Given the description of an element on the screen output the (x, y) to click on. 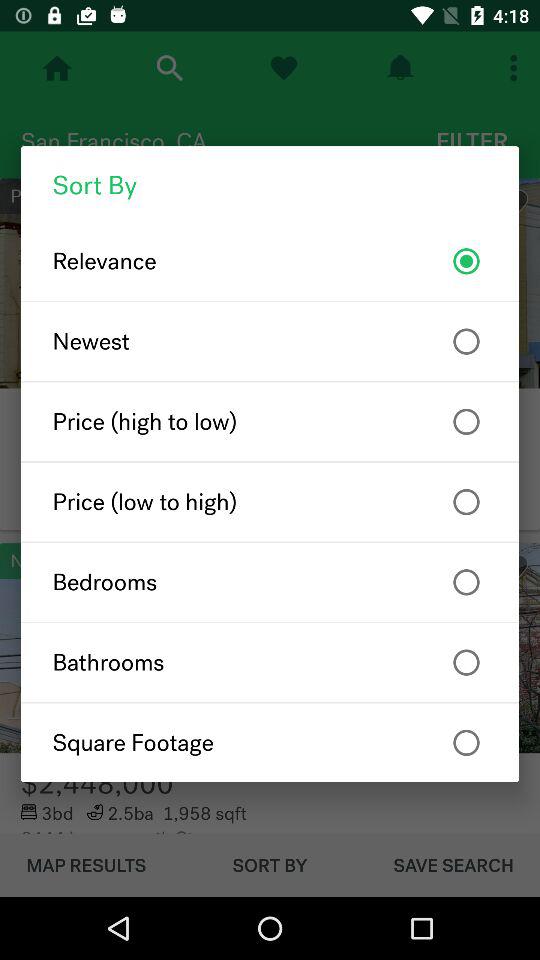
flip until the bathrooms (270, 662)
